Given the description of an element on the screen output the (x, y) to click on. 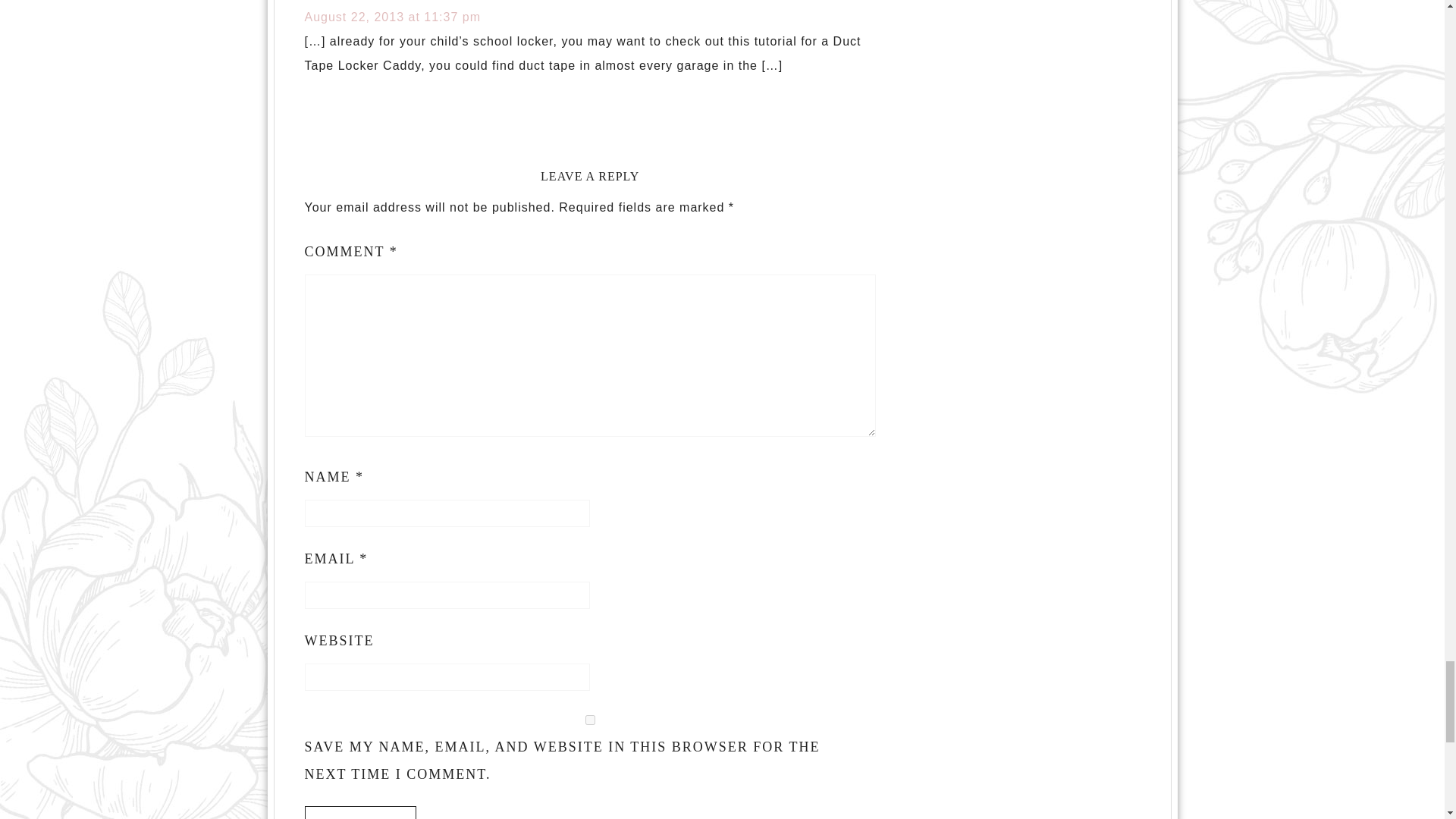
Post Comment (360, 812)
yes (590, 719)
